Given the description of an element on the screen output the (x, y) to click on. 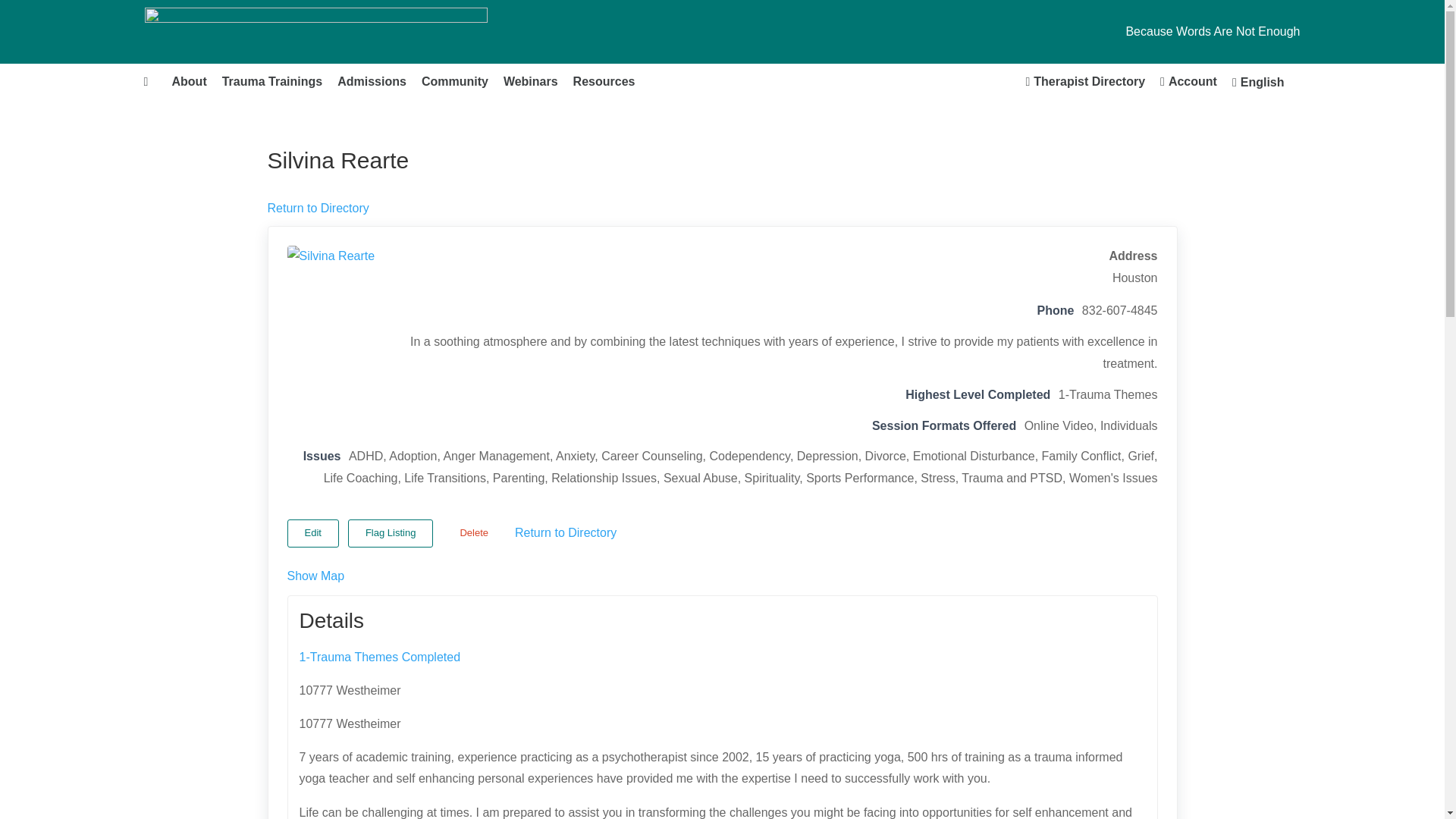
Therapist Directory (1085, 82)
Webinars (531, 82)
Admissions (371, 82)
Home (150, 82)
Edit (311, 533)
About (188, 82)
Flag Listing (389, 533)
Trauma Trainings (272, 82)
Account (1188, 82)
English (1258, 82)
Resources (604, 82)
English (1258, 82)
Return to Directory (317, 207)
Community (454, 82)
Silvina Rearte (343, 302)
